Given the description of an element on the screen output the (x, y) to click on. 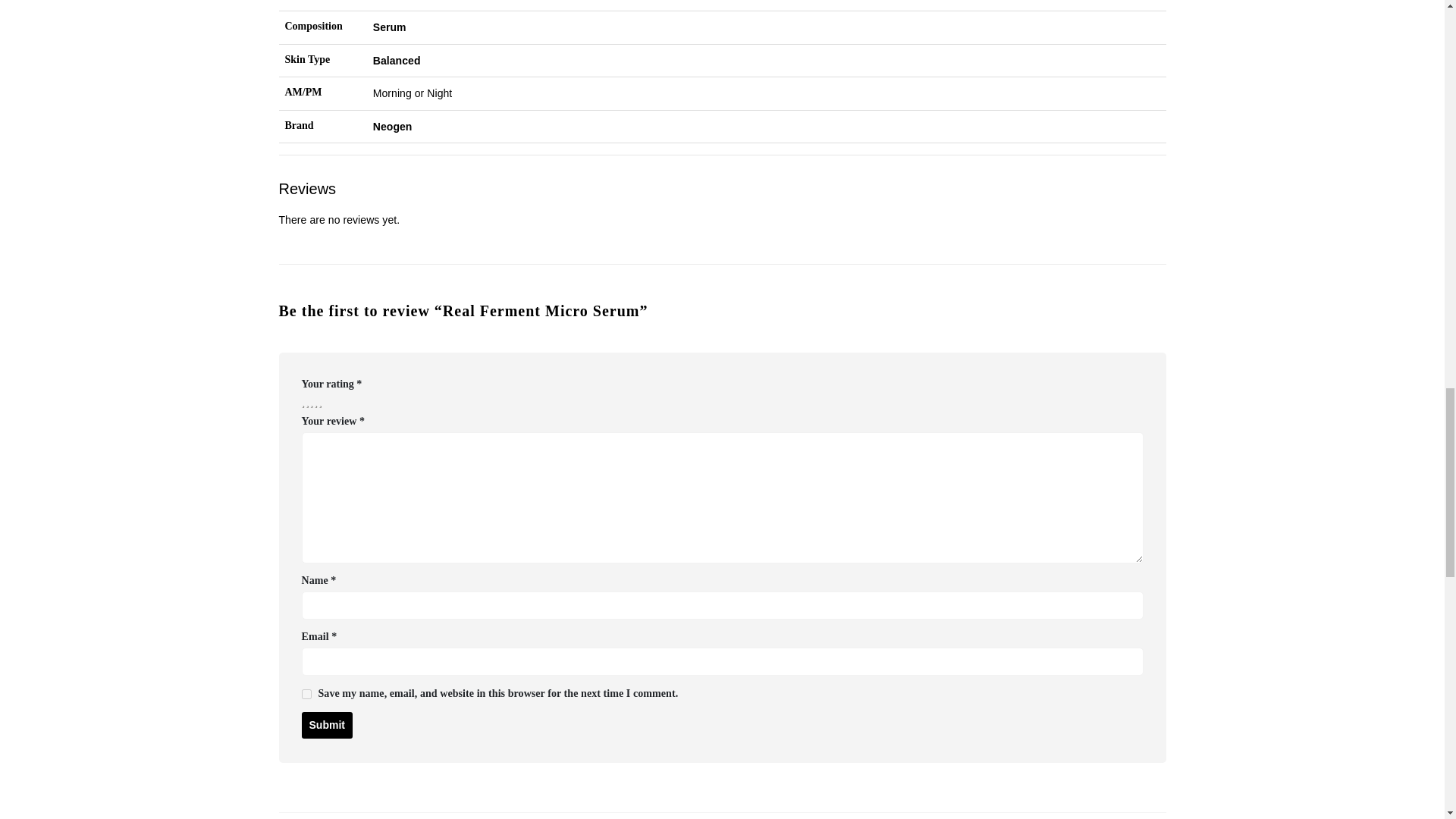
yes (306, 694)
Submit (326, 724)
